Given the description of an element on the screen output the (x, y) to click on. 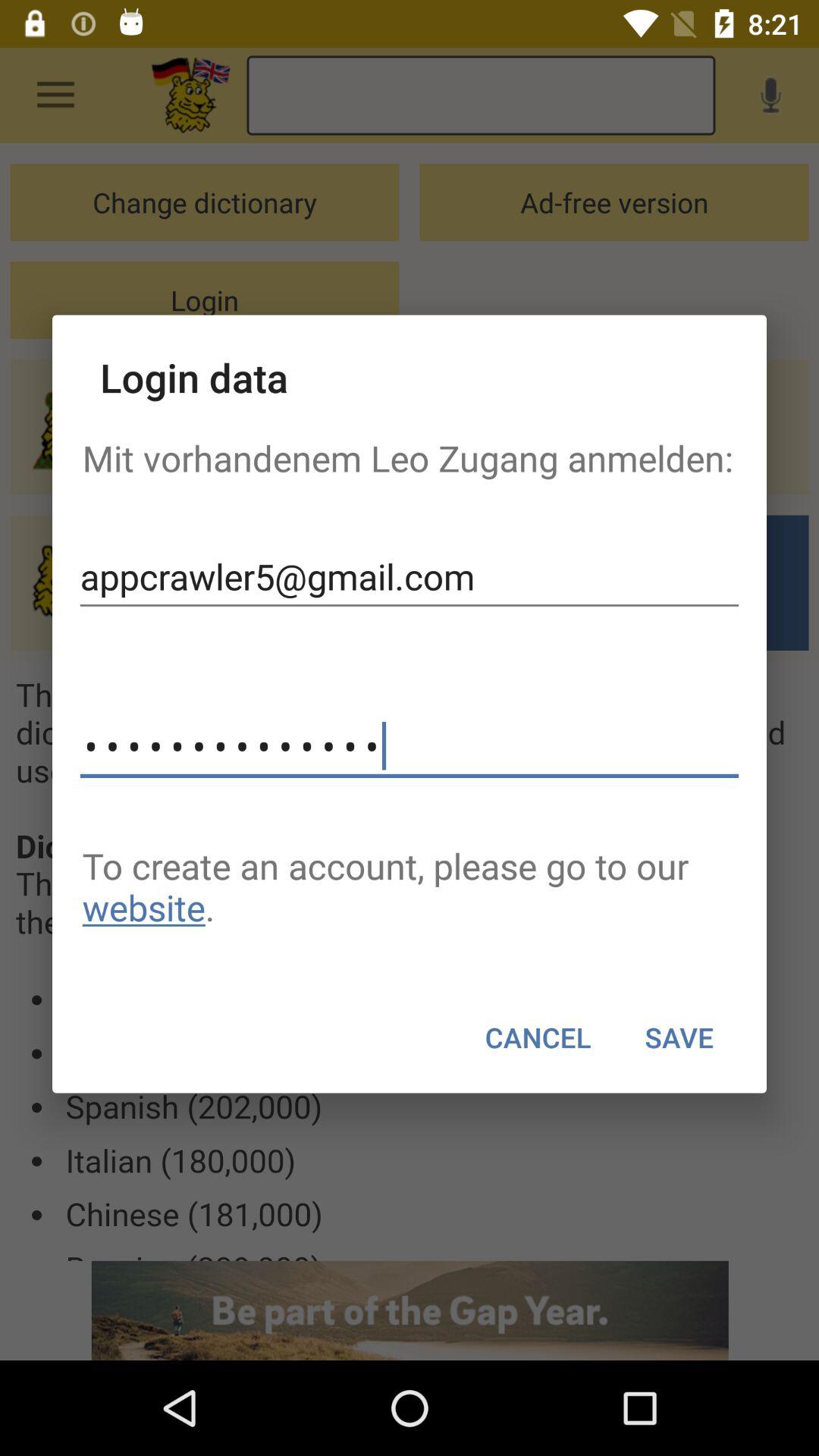
flip until the appcrawler5@gmail.com item (409, 577)
